Given the description of an element on the screen output the (x, y) to click on. 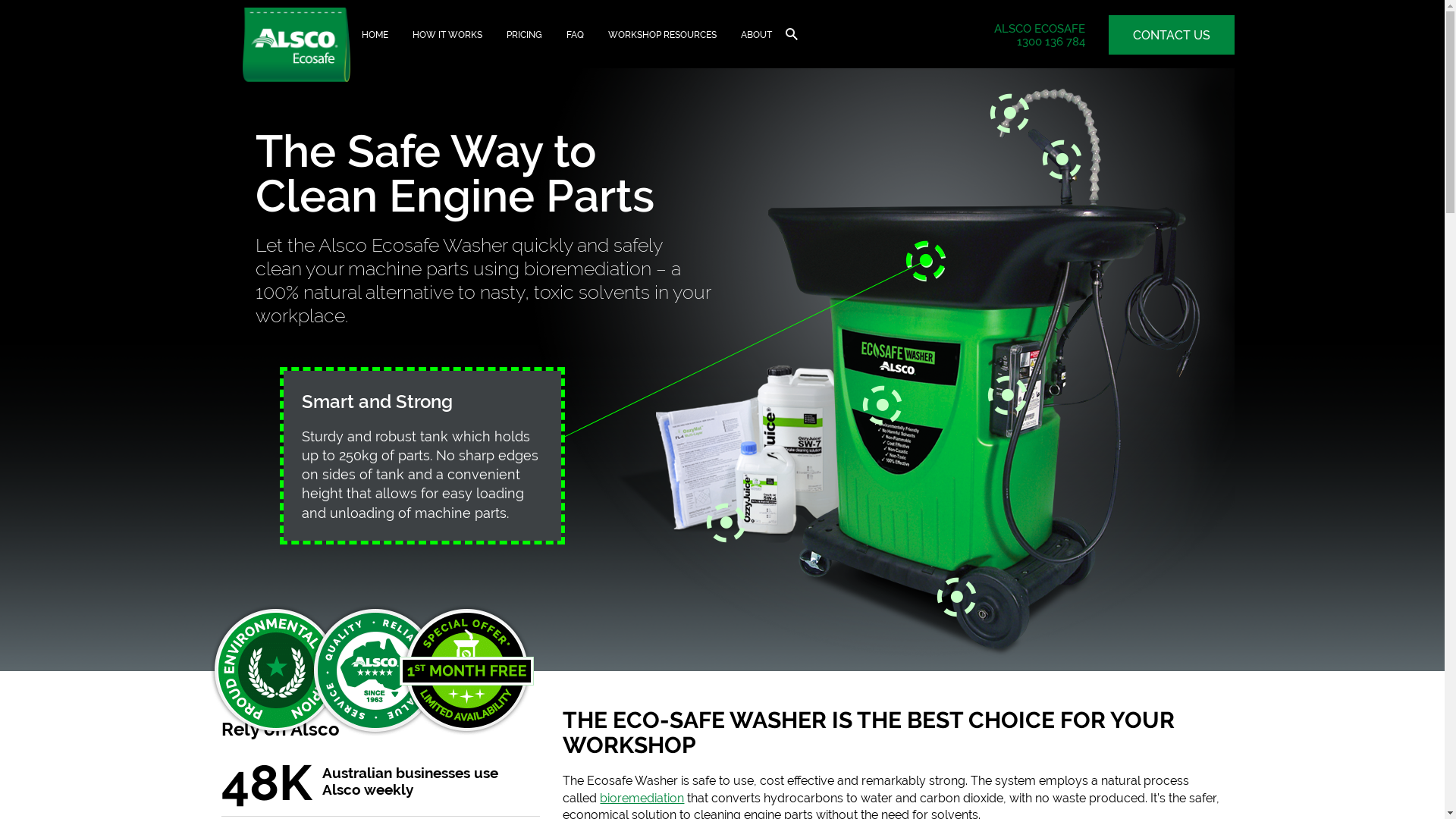
Alsco Ecosafe Washer Element type: text (296, 48)
PRICING Element type: text (524, 34)
WORKSHOP RESOURCES Element type: text (662, 34)
HOW IT WORKS Element type: text (447, 34)
1300 136 784 Element type: text (1050, 41)
HOME Element type: text (374, 34)
bioremediation Element type: text (641, 797)
CONTACT US Element type: text (1171, 34)
FAQ Element type: text (575, 34)
ABOUT Element type: text (756, 34)
